Given the description of an element on the screen output the (x, y) to click on. 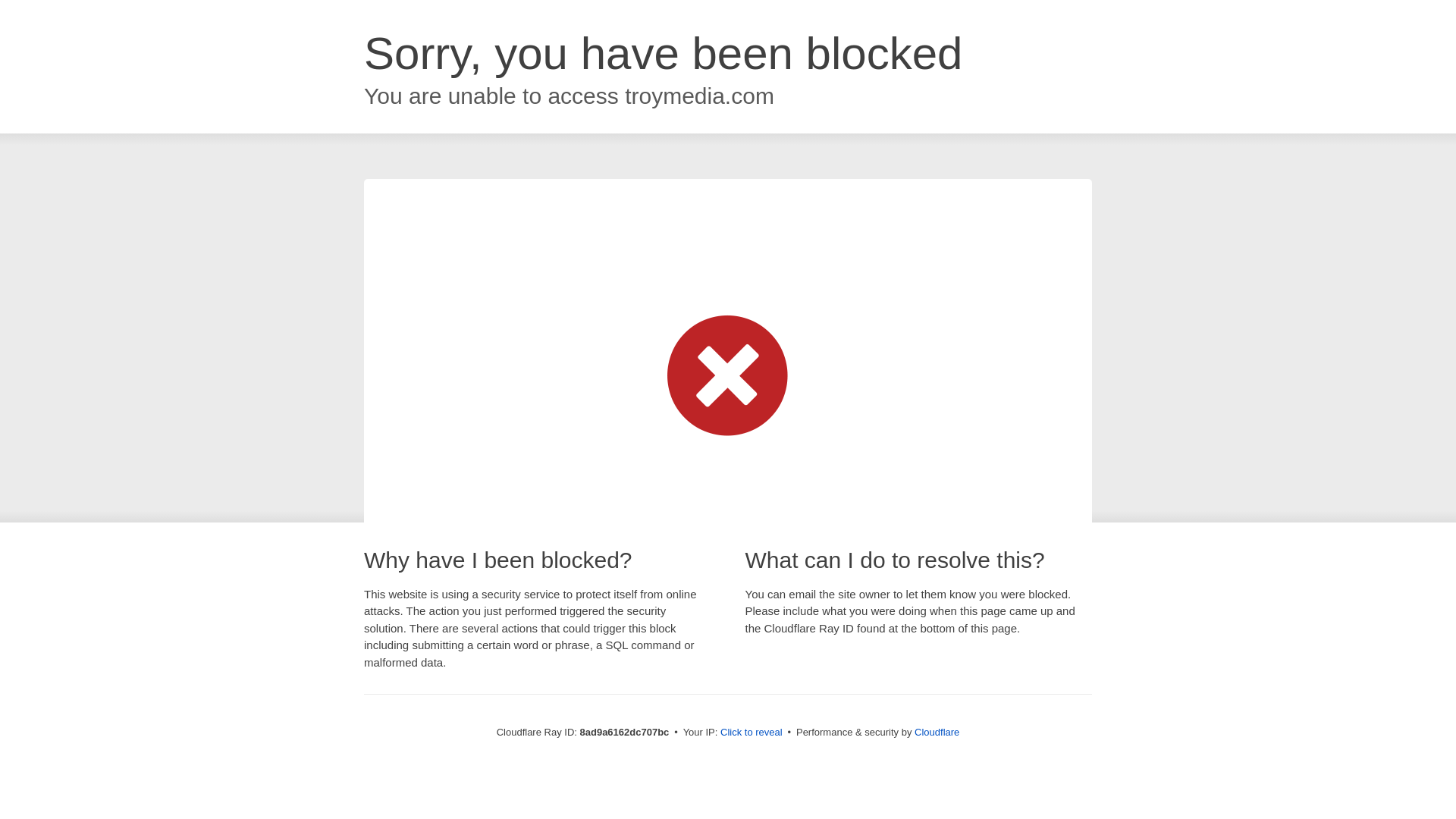
Click to reveal (751, 732)
Cloudflare (936, 731)
